Given the description of an element on the screen output the (x, y) to click on. 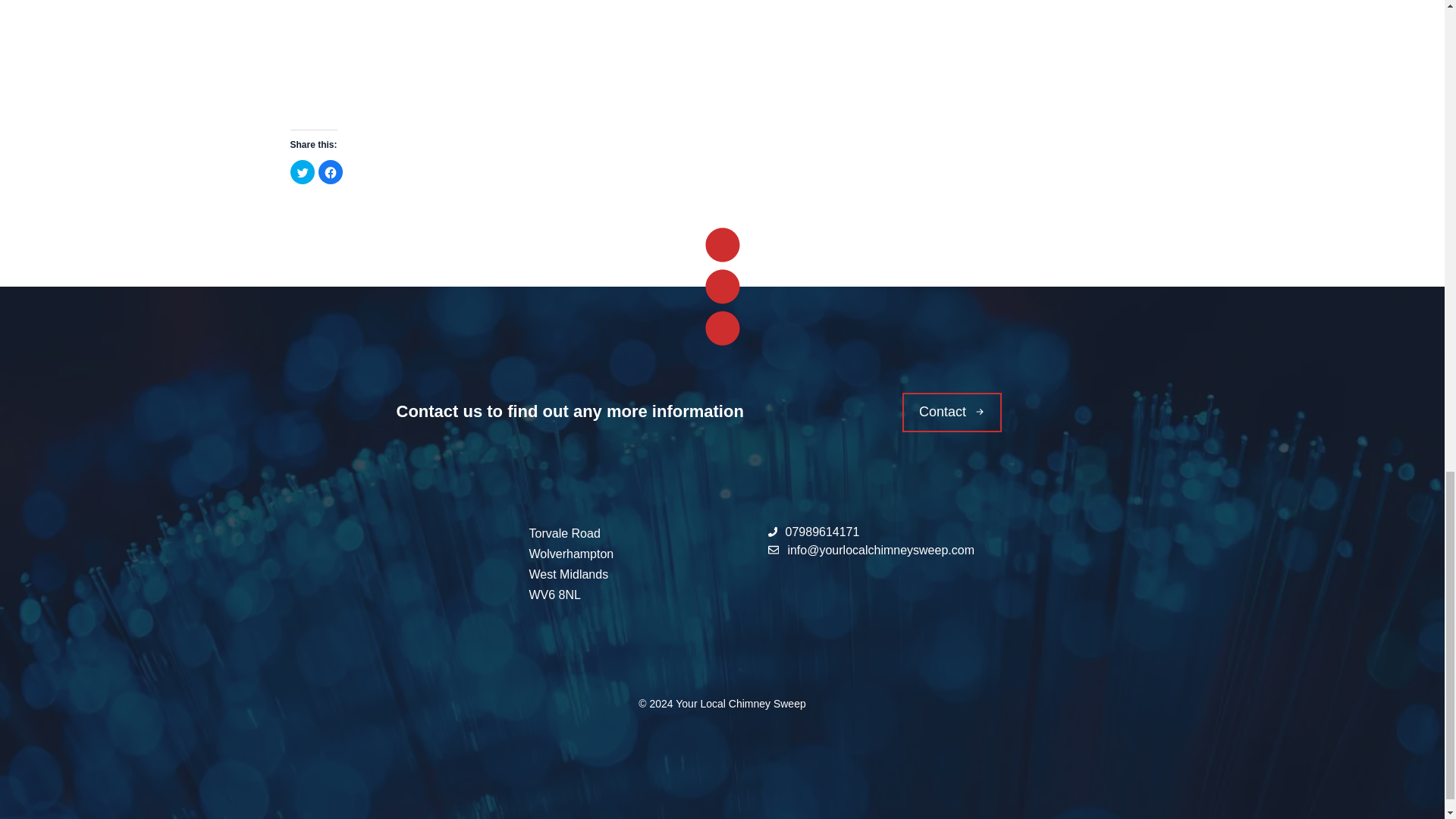
07989614171 (813, 532)
Contact (951, 412)
Click to share on Twitter (301, 171)
Click to share on Facebook (330, 171)
